Given the description of an element on the screen output the (x, y) to click on. 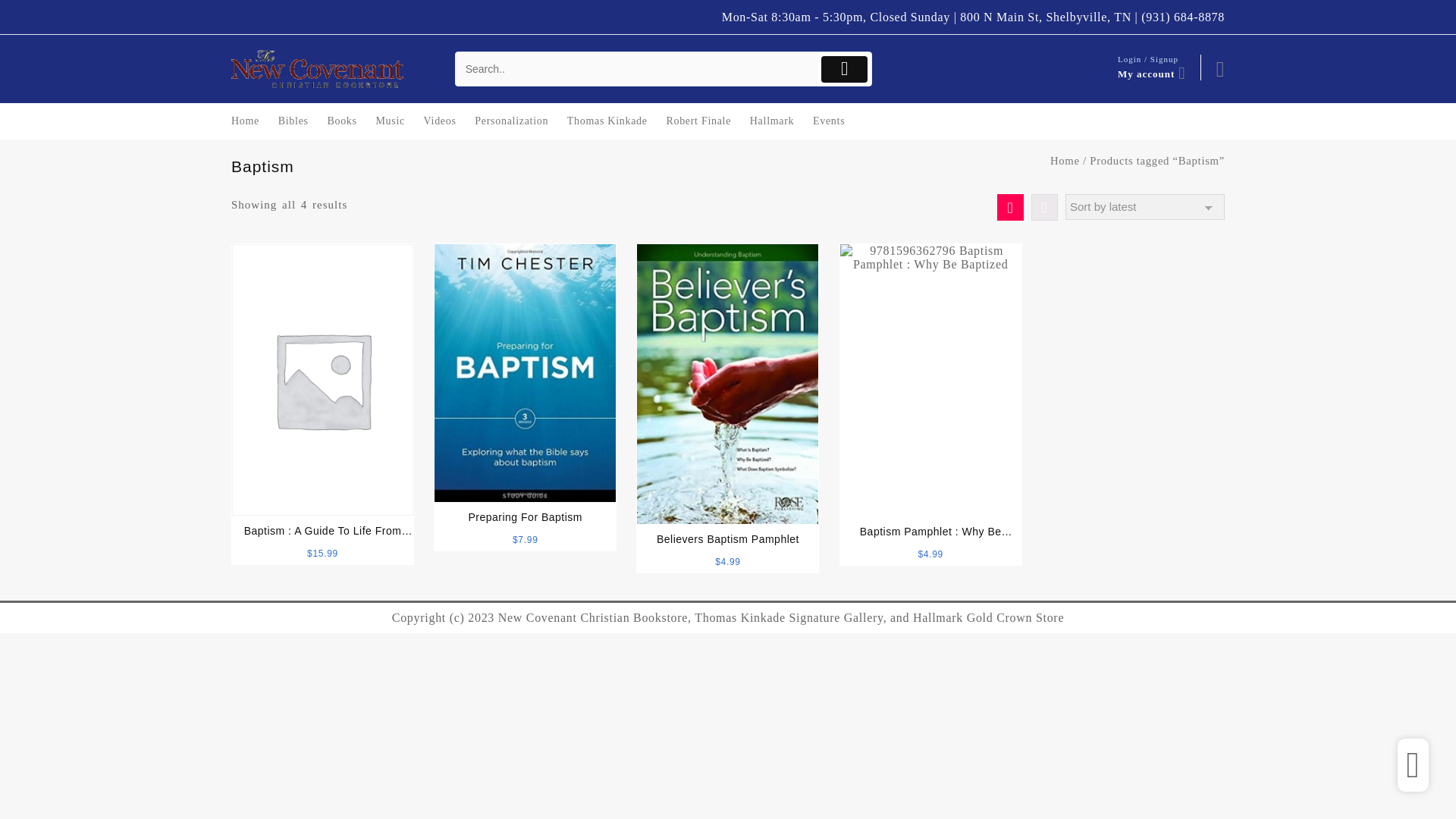
Search (636, 69)
800 N Main St, Shelbyville, TN (1045, 16)
List View (1044, 207)
Grid View (1010, 207)
Submit (844, 69)
